Given the description of an element on the screen output the (x, y) to click on. 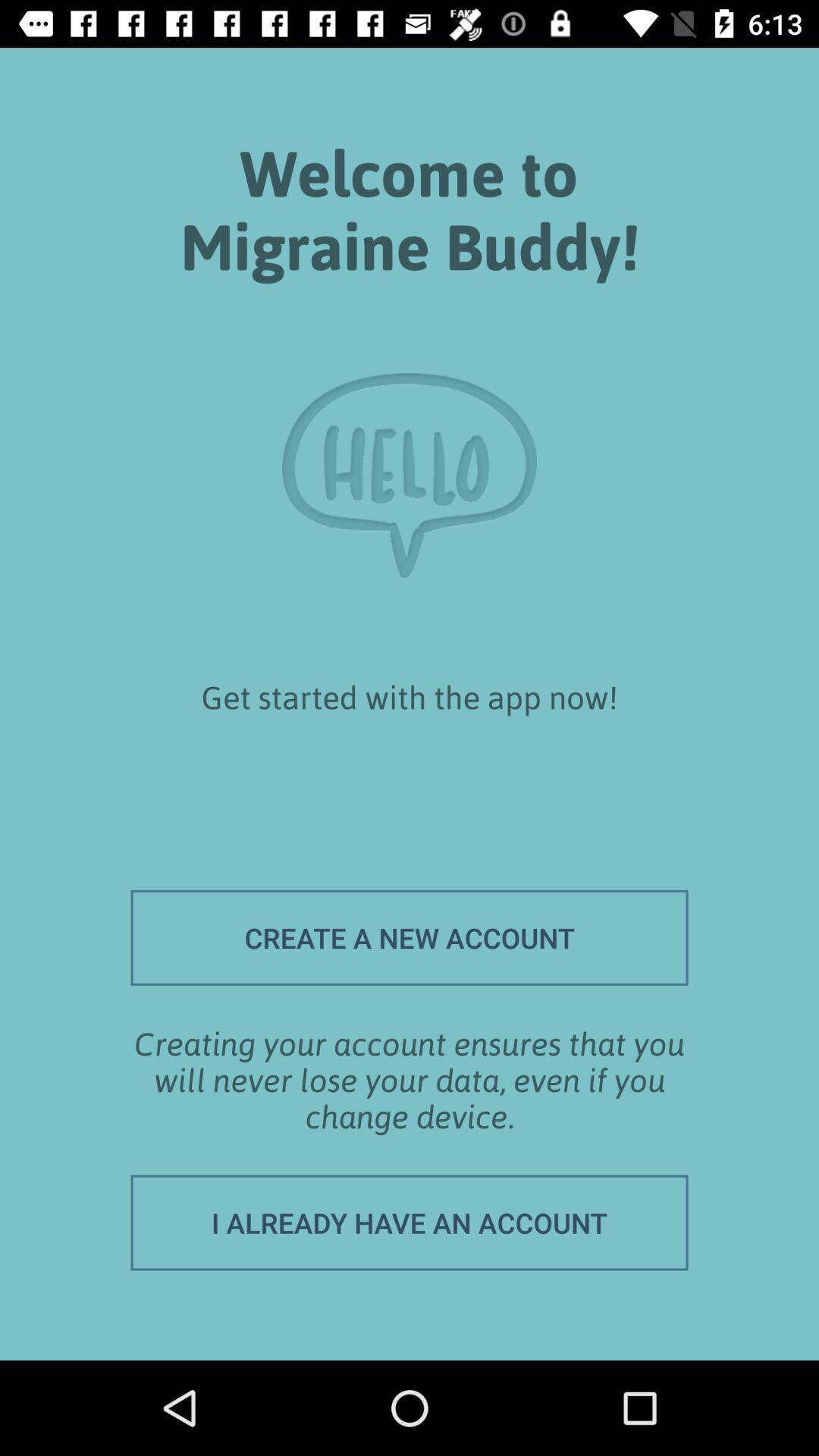
swipe until the i already have item (409, 1222)
